Given the description of an element on the screen output the (x, y) to click on. 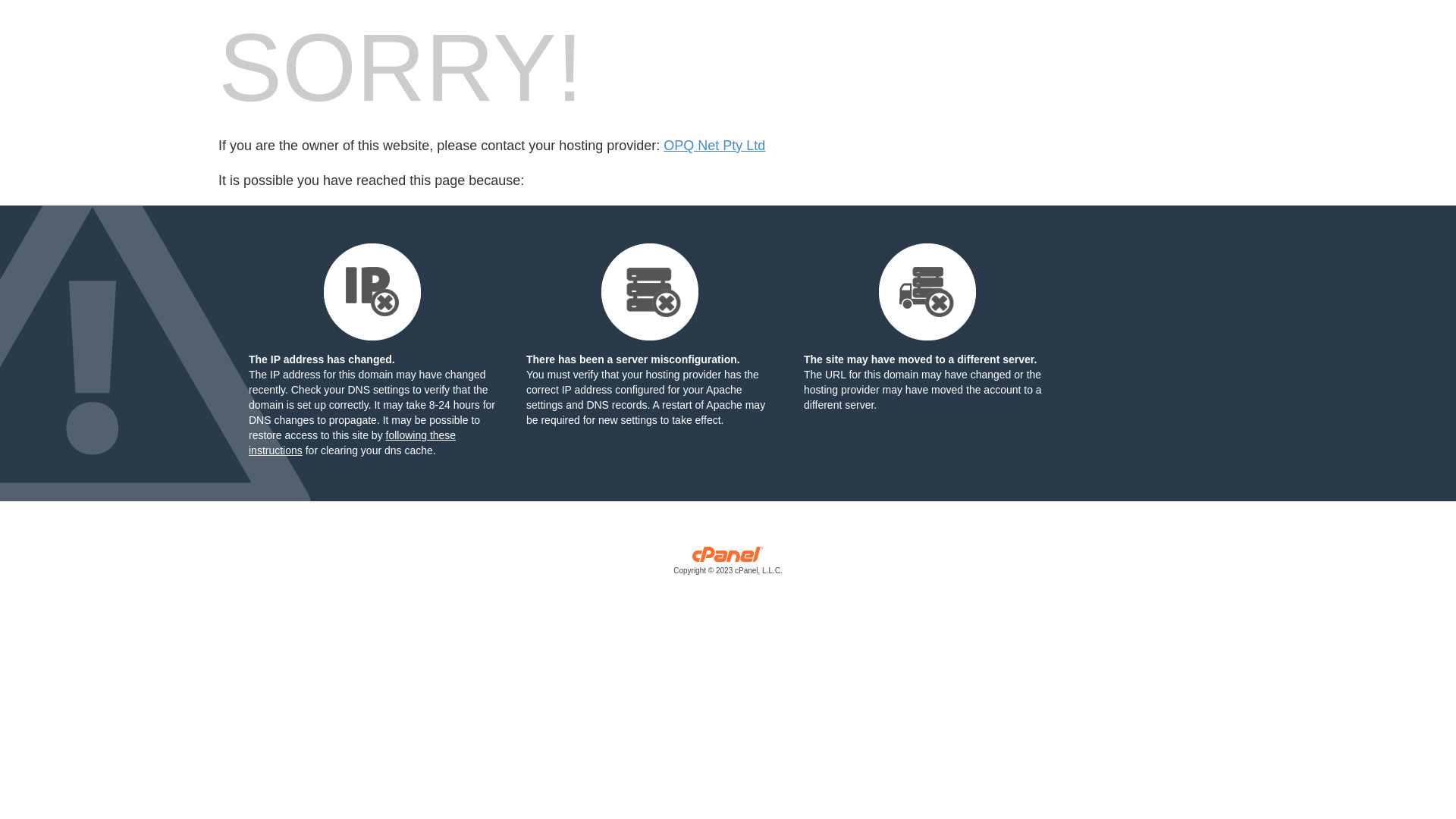
following these instructions Element type: text (351, 442)
OPQ Net Pty Ltd Element type: text (714, 145)
